Given the description of an element on the screen output the (x, y) to click on. 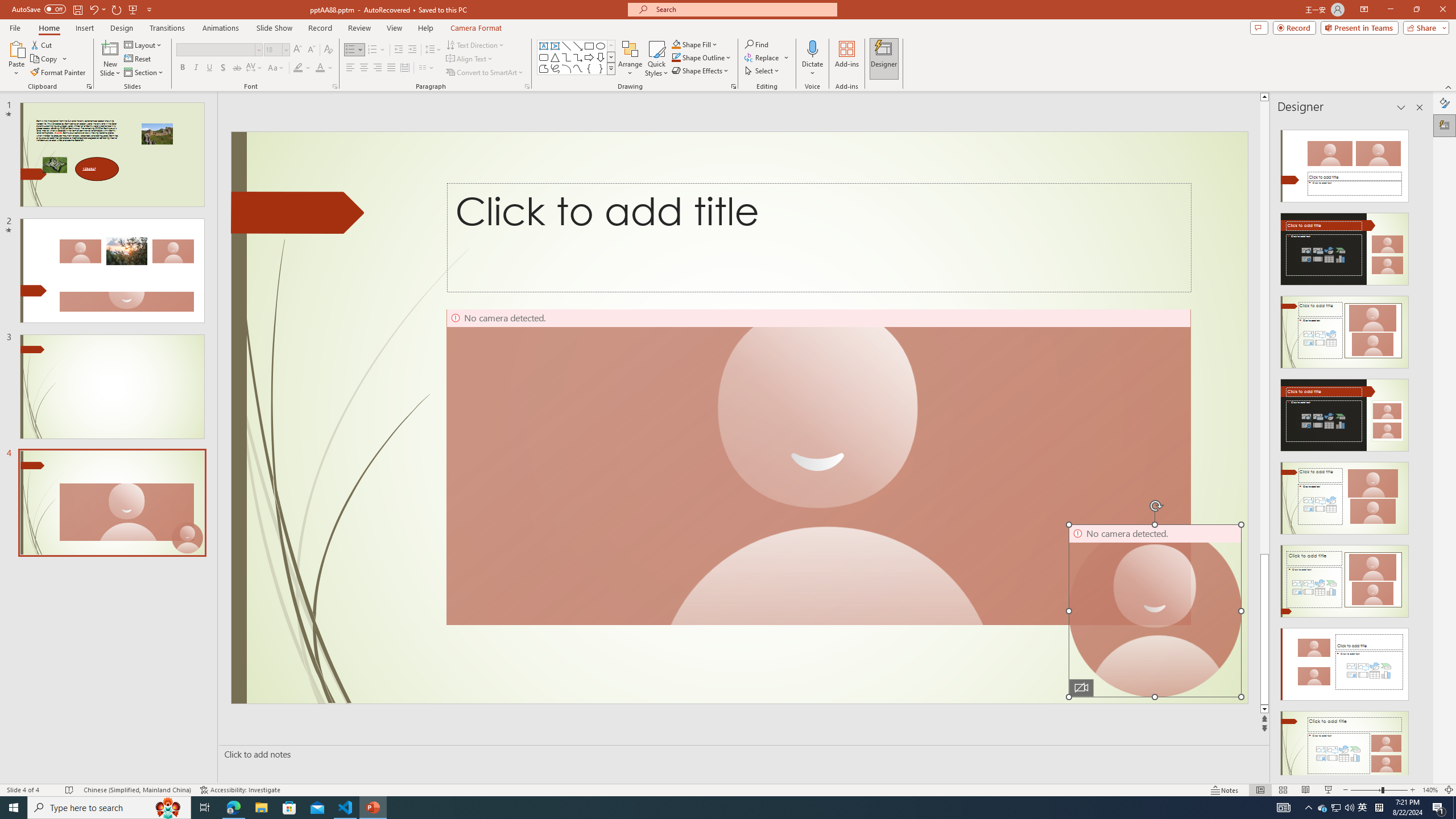
Title TextBox (818, 237)
Slide Notes (741, 754)
